Given the description of an element on the screen output the (x, y) to click on. 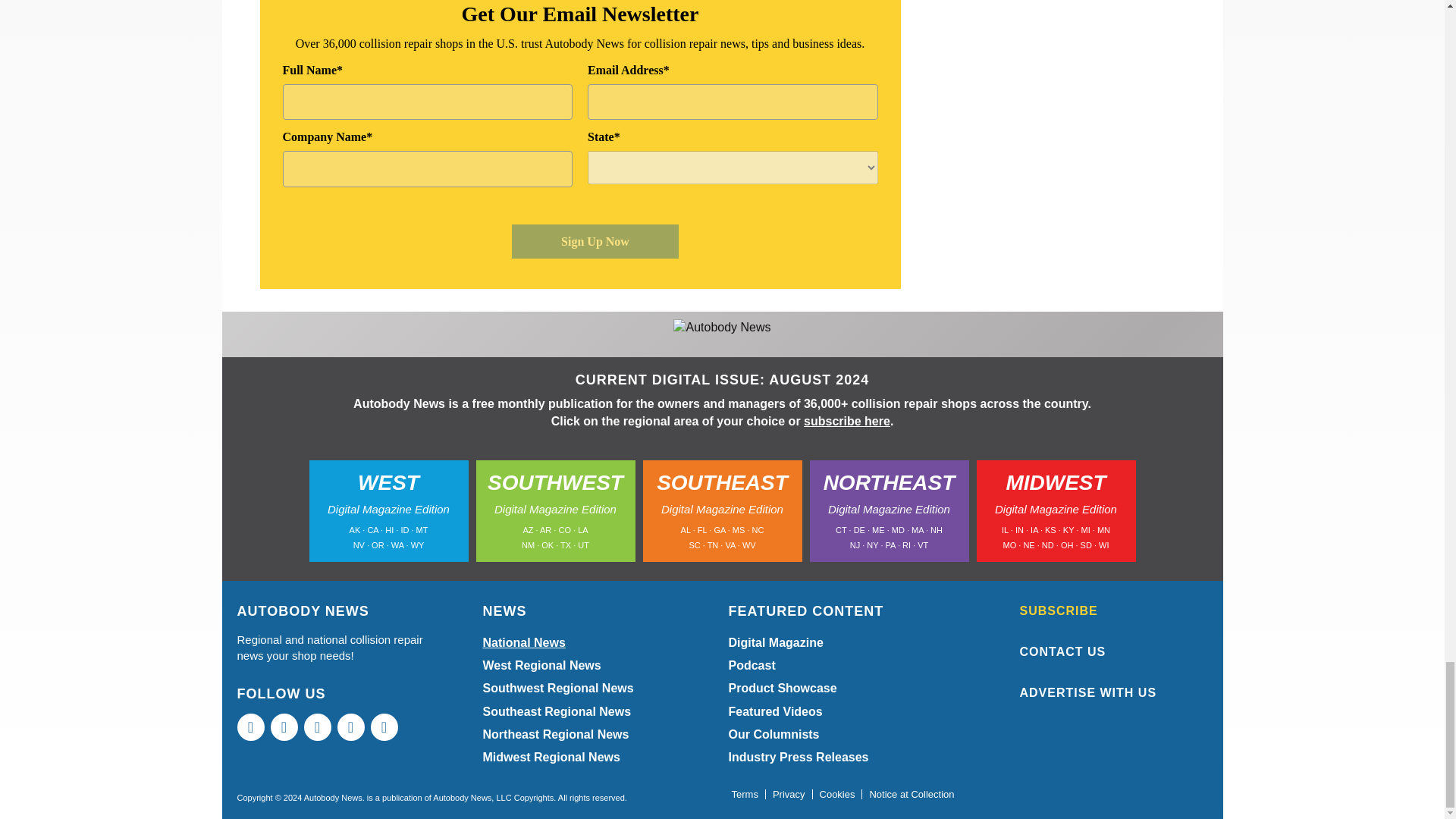
Auto Body News Cookie Policy (837, 794)
Auto Body News Notice at Collection Policy (911, 794)
Auto Body News Privacy Policy (789, 794)
